Given the description of an element on the screen output the (x, y) to click on. 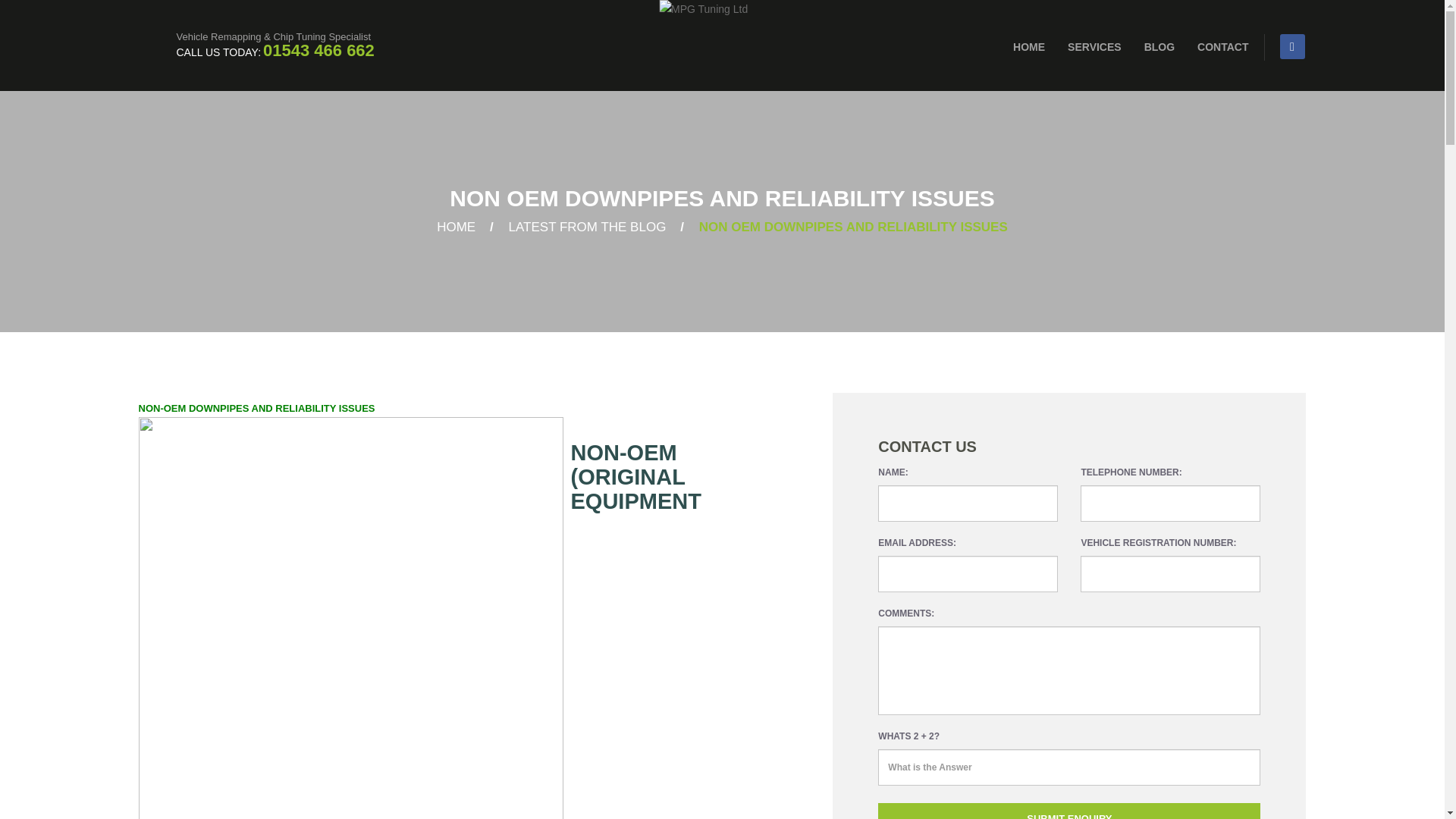
CONTACT (1216, 46)
MPG Tuning Cannock (1029, 46)
SUBMIT ENQUIRY (1068, 811)
01543 466 662 (318, 50)
Follow us on Facebook (1291, 46)
Contact MPG Tuning Staffordshire (1216, 46)
MPG Tuning Ltd (722, 62)
Remapping and Tuning Services (1094, 46)
BLOG (1159, 46)
Latest From The Blog (587, 227)
HOME (456, 227)
MPG Tuning Ltd (456, 227)
SERVICES (1094, 46)
LATEST FROM THE BLOG (587, 227)
HOME (1029, 46)
